Given the description of an element on the screen output the (x, y) to click on. 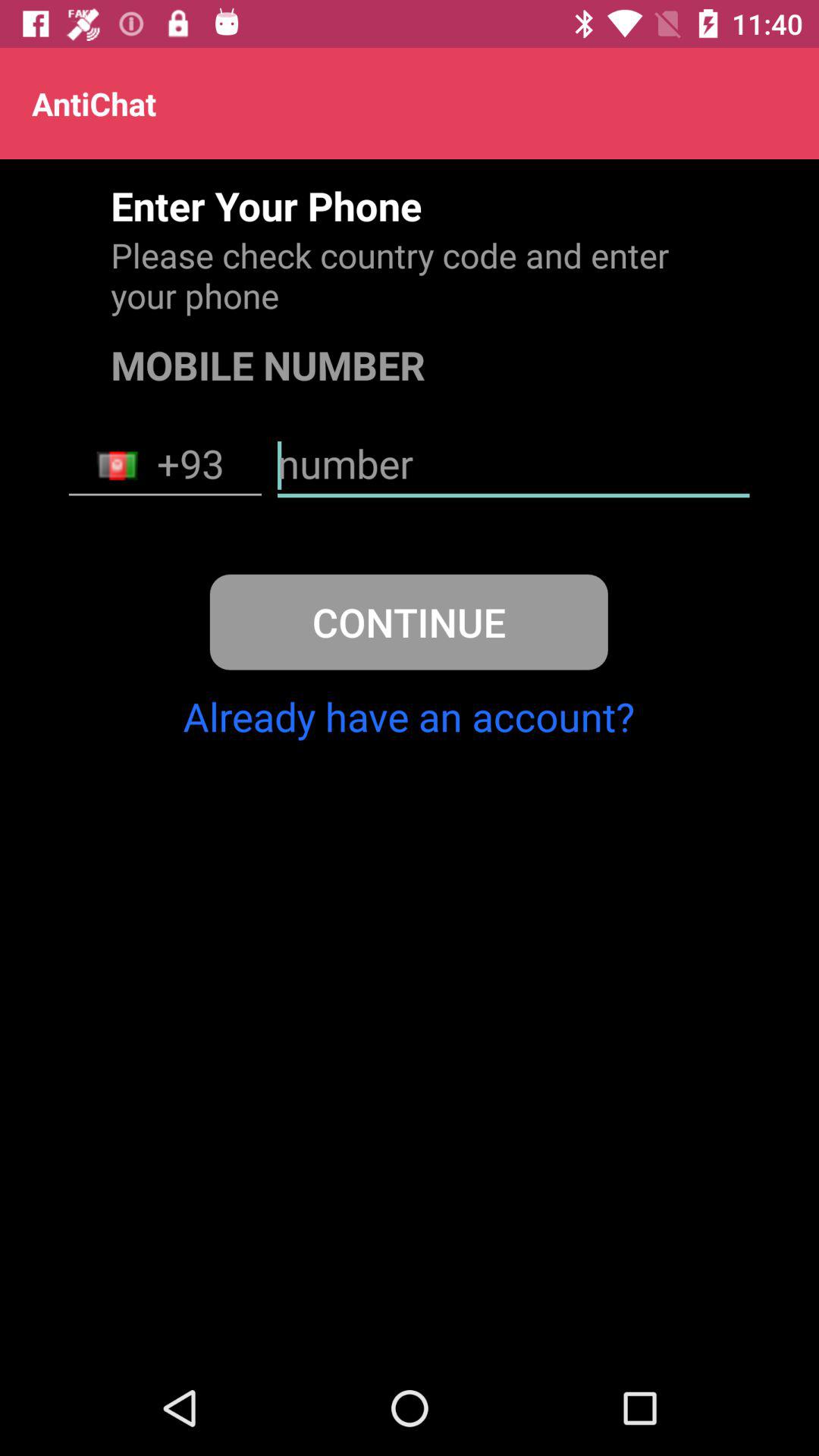
turn on already have an item (408, 715)
